Given the description of an element on the screen output the (x, y) to click on. 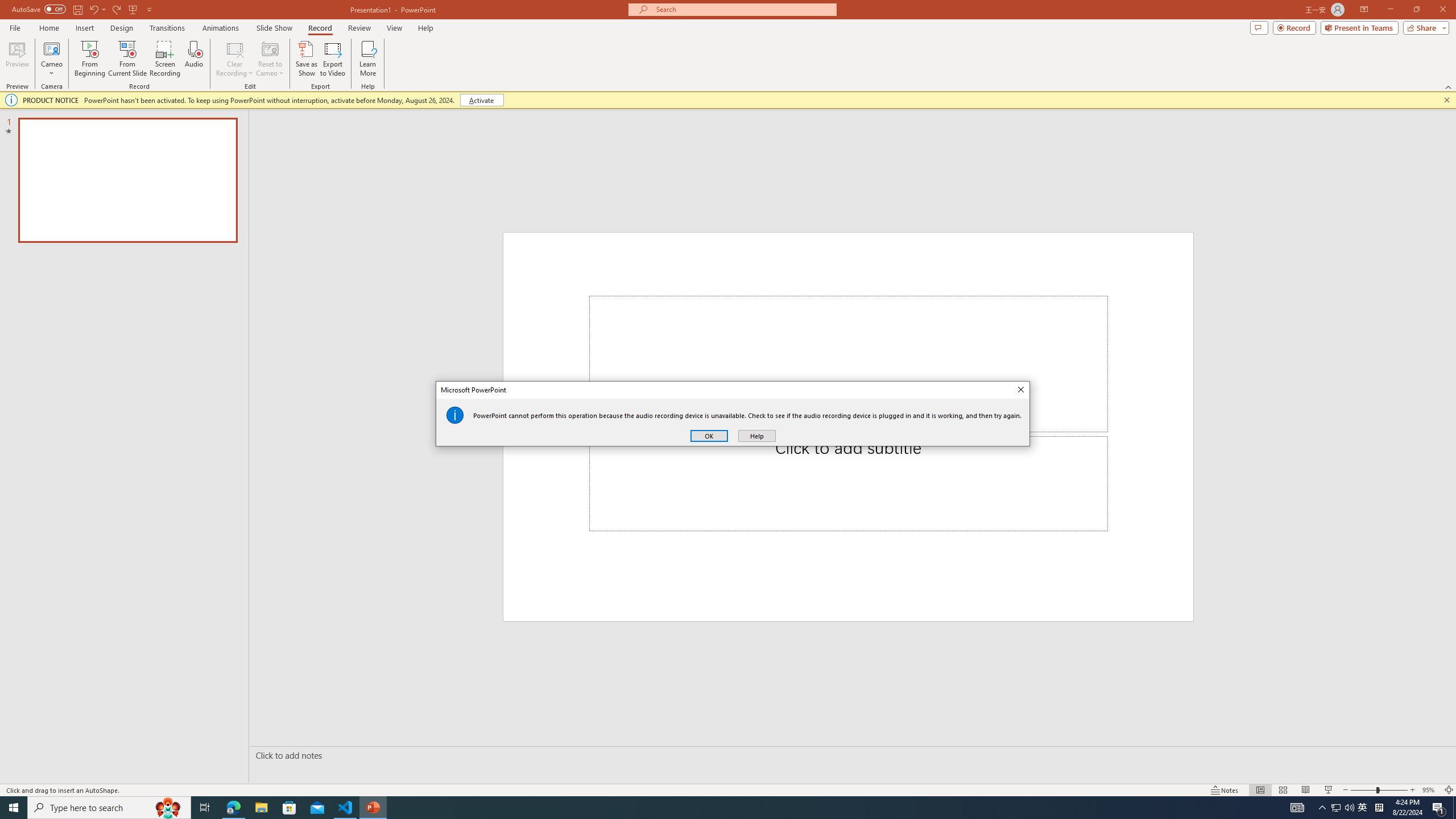
Zoom 95% (1430, 790)
